Given the description of an element on the screen output the (x, y) to click on. 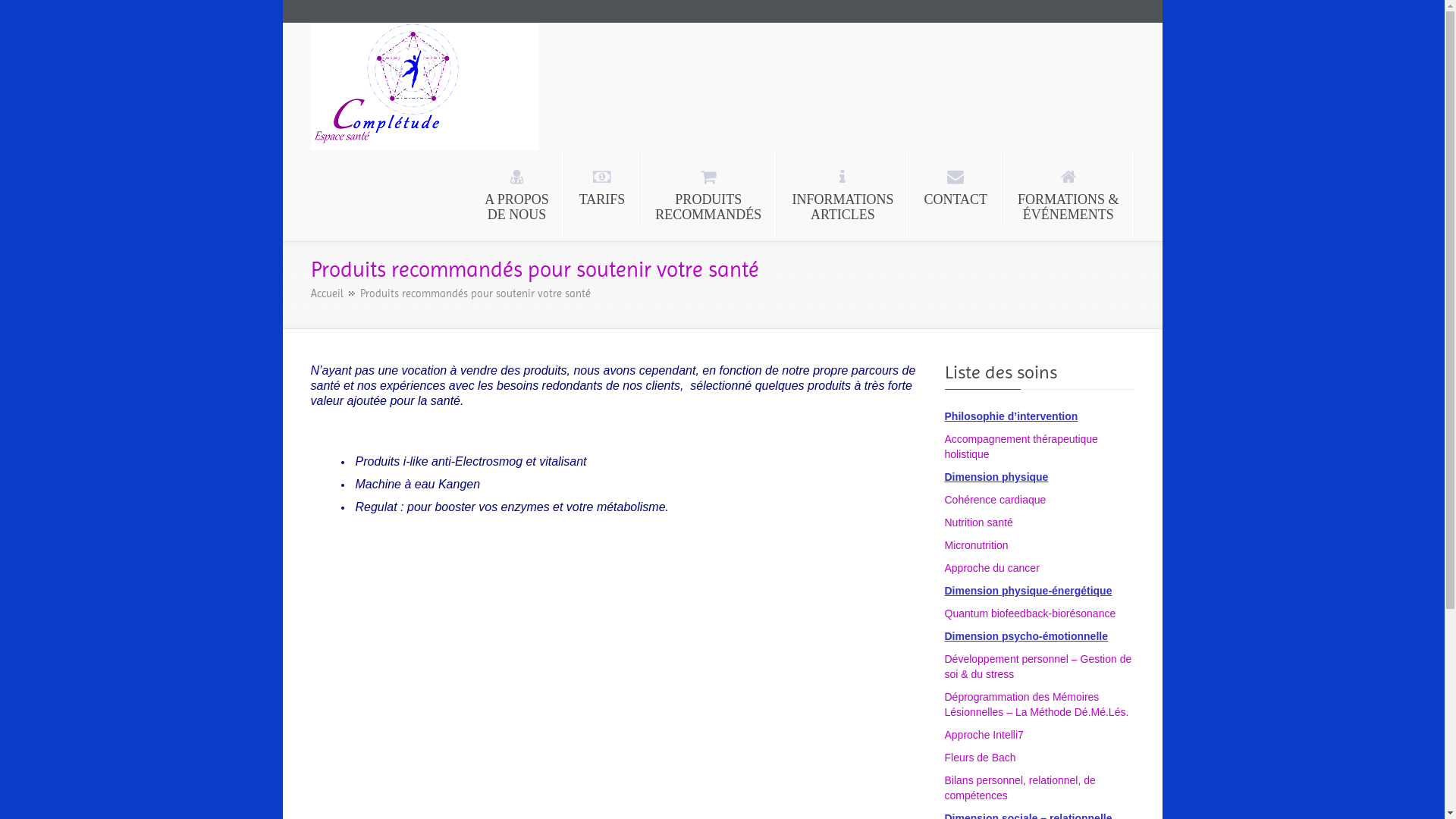
Accueil Element type: text (332, 293)
Approche Intelli7 Element type: text (983, 734)
Approche du cancer Element type: text (991, 567)
INFORMATIONS
ARTICLES Element type: text (842, 195)
TARIFS Element type: text (602, 187)
Fleurs de Bach Element type: text (980, 757)
A PROPOS
DE NOUS Element type: text (516, 195)
CONTACT Element type: text (955, 187)
Micronutrition Element type: text (976, 545)
Dimension physique Element type: text (996, 476)
